Given the description of an element on the screen output the (x, y) to click on. 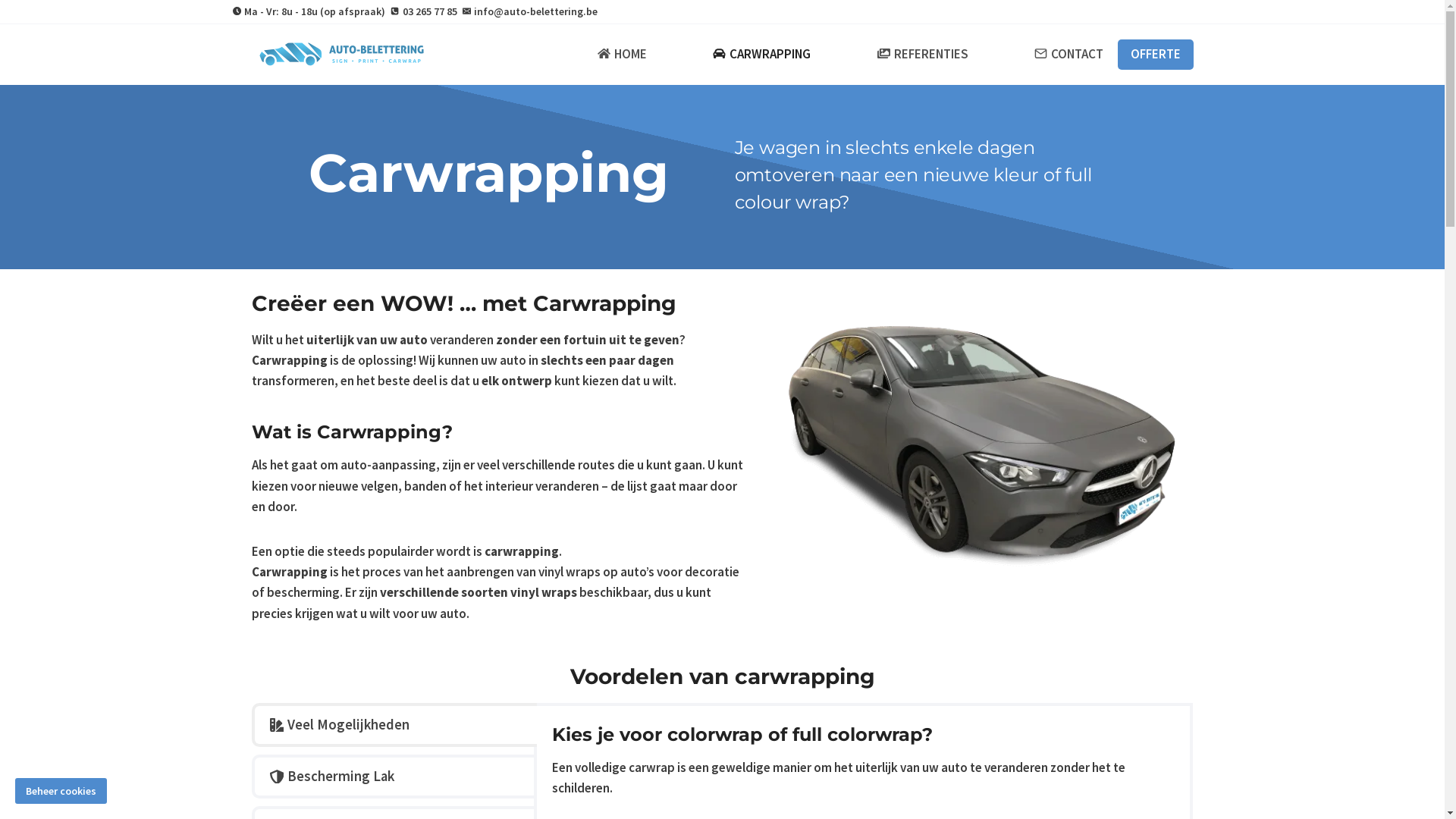
OFFERTE Element type: text (1155, 54)
03 265 77 85 Element type: text (423, 11)
info@auto-belettering.be Element type: text (529, 11)
HOME Element type: text (621, 54)
CARWRAPPING Element type: text (761, 54)
Bescherming Lak Element type: text (394, 776)
Beheer cookies Element type: text (60, 790)
Veel Mogelijkheden Element type: text (394, 724)
CONTACT Element type: text (1068, 54)
REFERENTIES Element type: text (922, 54)
